Given the description of an element on the screen output the (x, y) to click on. 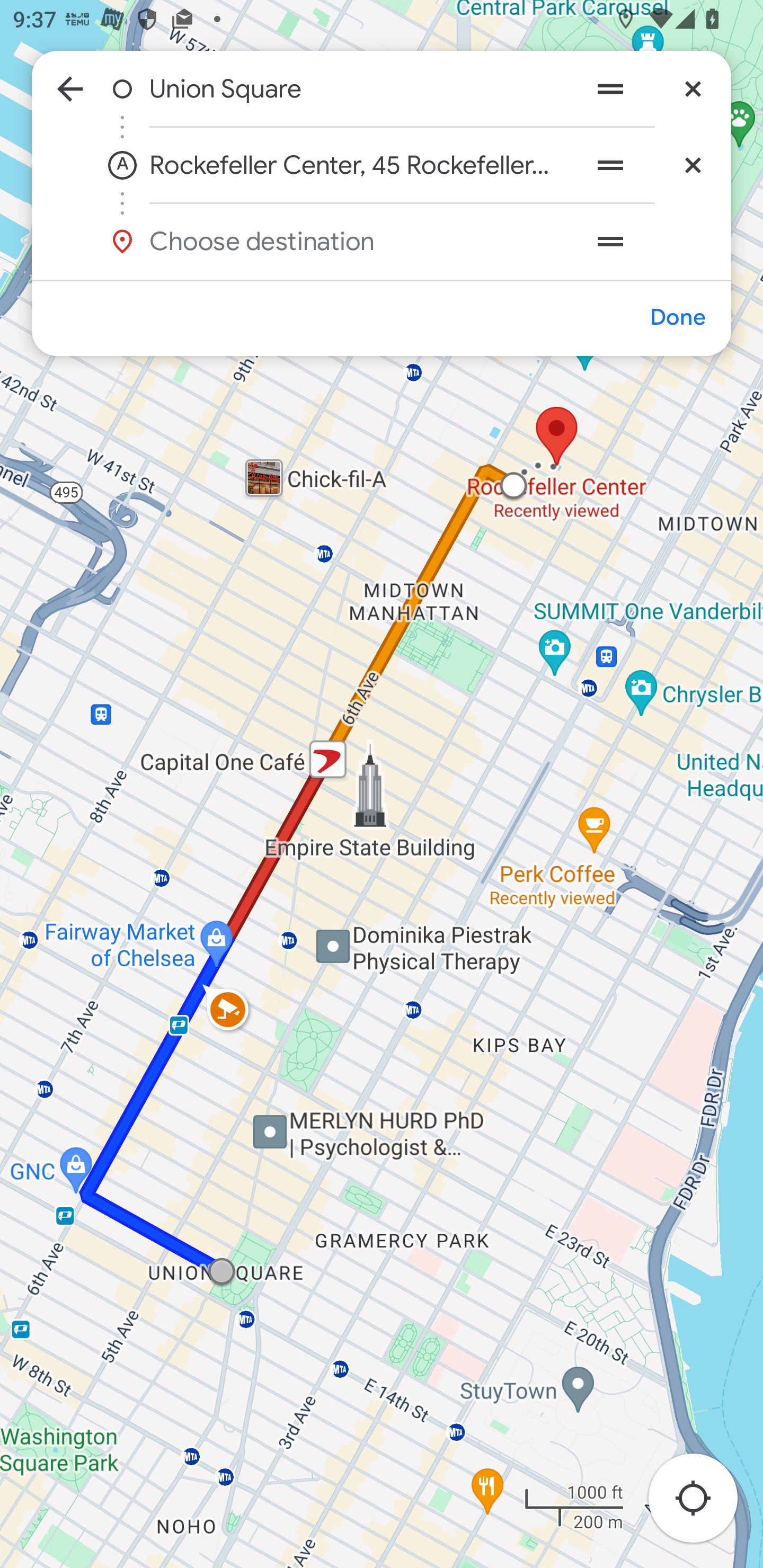
Navigate up (70, 88)
Drag waypoint Union Square (610, 88)
Remove waypoint Union Square (692, 88)
Drag waypoint Choose destination (648, 241)
Done (676, 317)
Re-center map to your location (702, 1503)
